Given the description of an element on the screen output the (x, y) to click on. 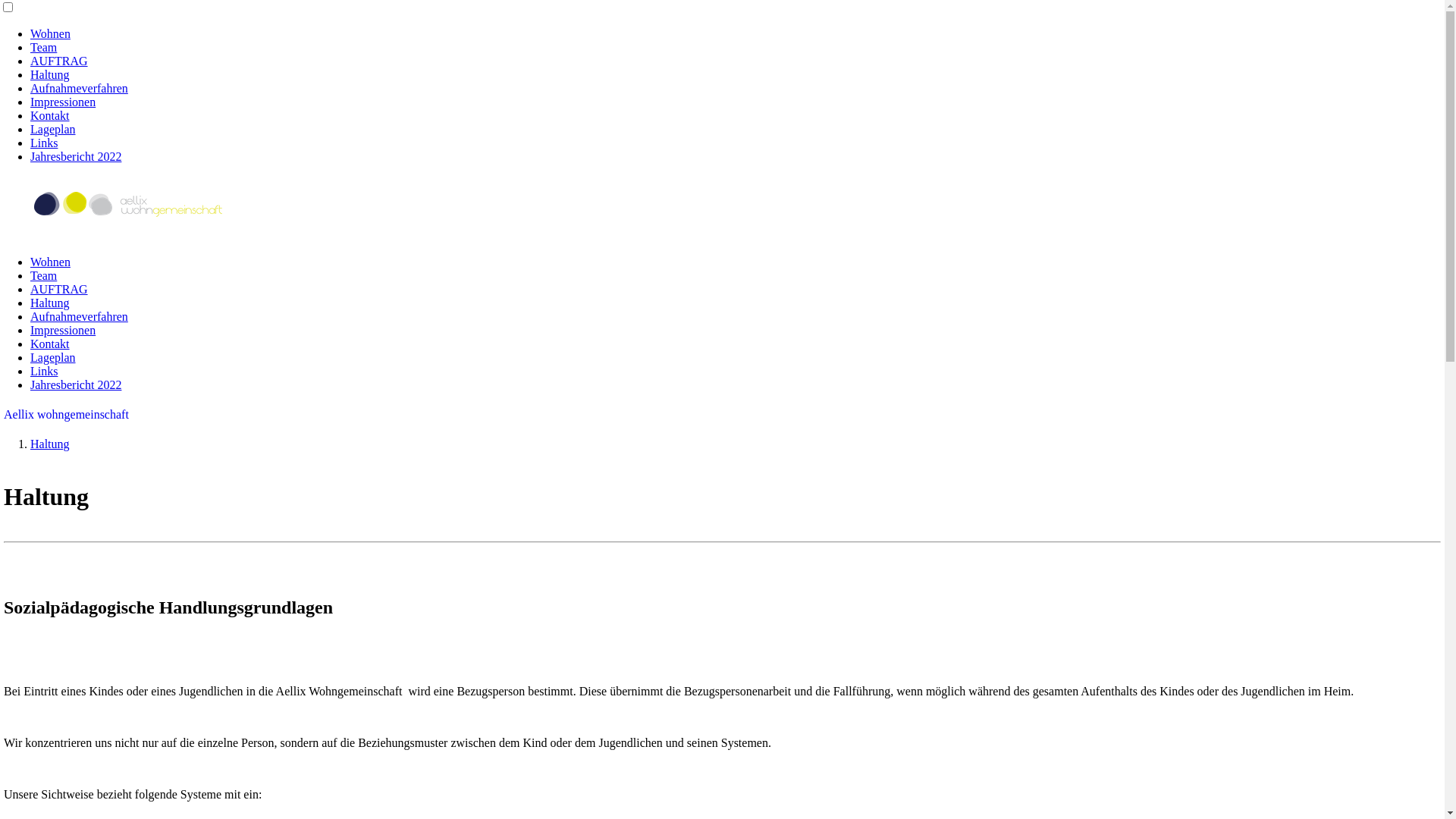
Kontakt Element type: text (49, 115)
Wohnen Element type: text (50, 33)
Team Element type: text (43, 46)
Links Element type: text (43, 370)
Aellix wohngemeinschaft Element type: text (65, 413)
Aufnahmeverfahren Element type: text (79, 87)
Haltung Element type: text (49, 74)
AUFTRAG Element type: text (58, 60)
Impressionen Element type: text (62, 329)
Aufnahmeverfahren Element type: text (79, 316)
Team Element type: text (43, 275)
Wohnen Element type: text (50, 261)
Haltung Element type: text (49, 443)
Lageplan Element type: text (52, 357)
Haltung Element type: text (49, 302)
Kontakt Element type: text (49, 343)
Lageplan Element type: text (52, 128)
AUFTRAG Element type: text (58, 288)
Jahresbericht 2022 Element type: text (75, 156)
Links Element type: text (43, 142)
Jahresbericht 2022 Element type: text (75, 384)
Impressionen Element type: text (62, 101)
